Given the description of an element on the screen output the (x, y) to click on. 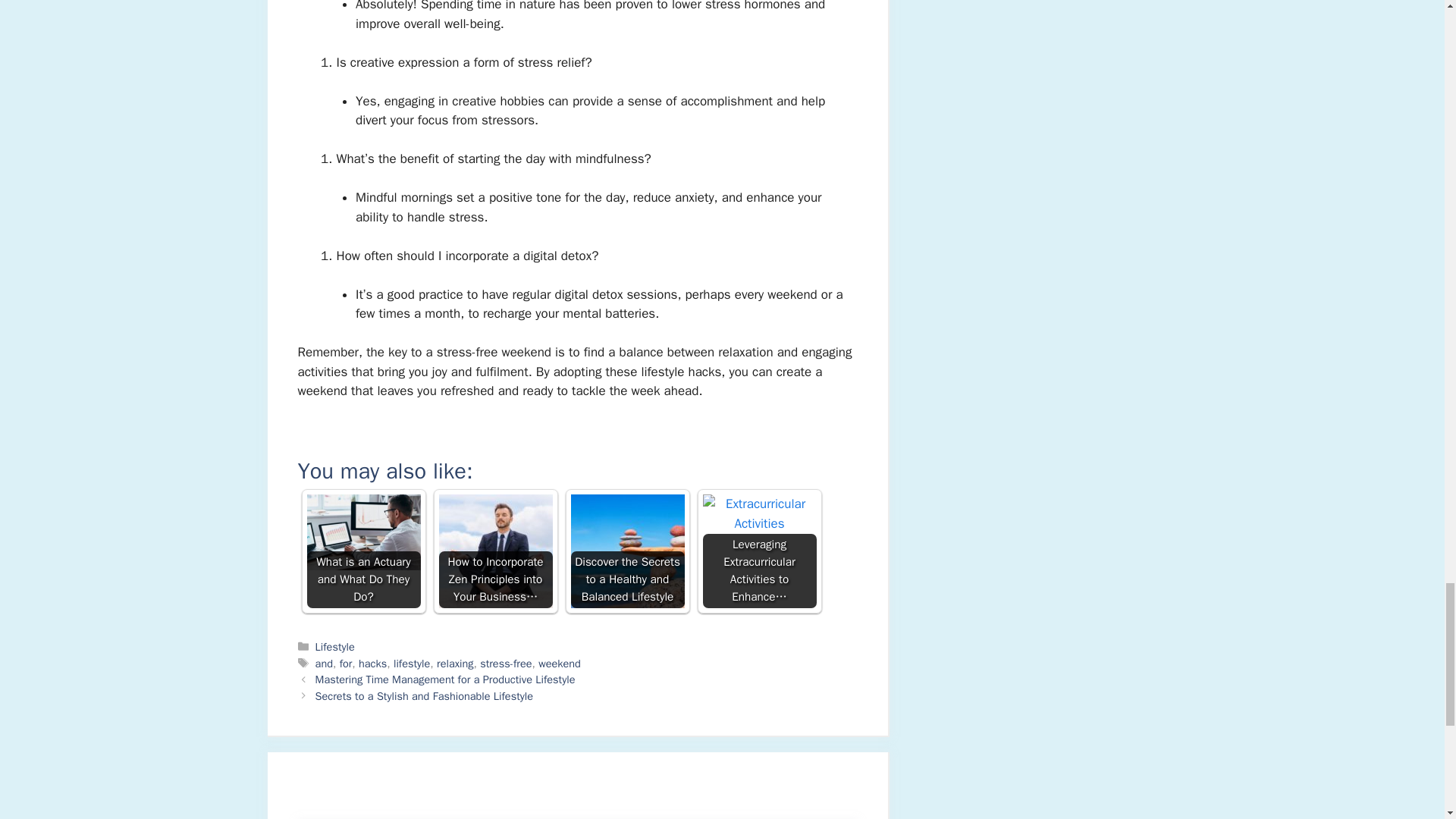
Discover the Secrets to a Healthy and Balanced Lifestyle (627, 551)
and (324, 663)
What is an Actuary and What Do They Do? (362, 551)
Lifestyle (335, 646)
for (345, 663)
